Given the description of an element on the screen output the (x, y) to click on. 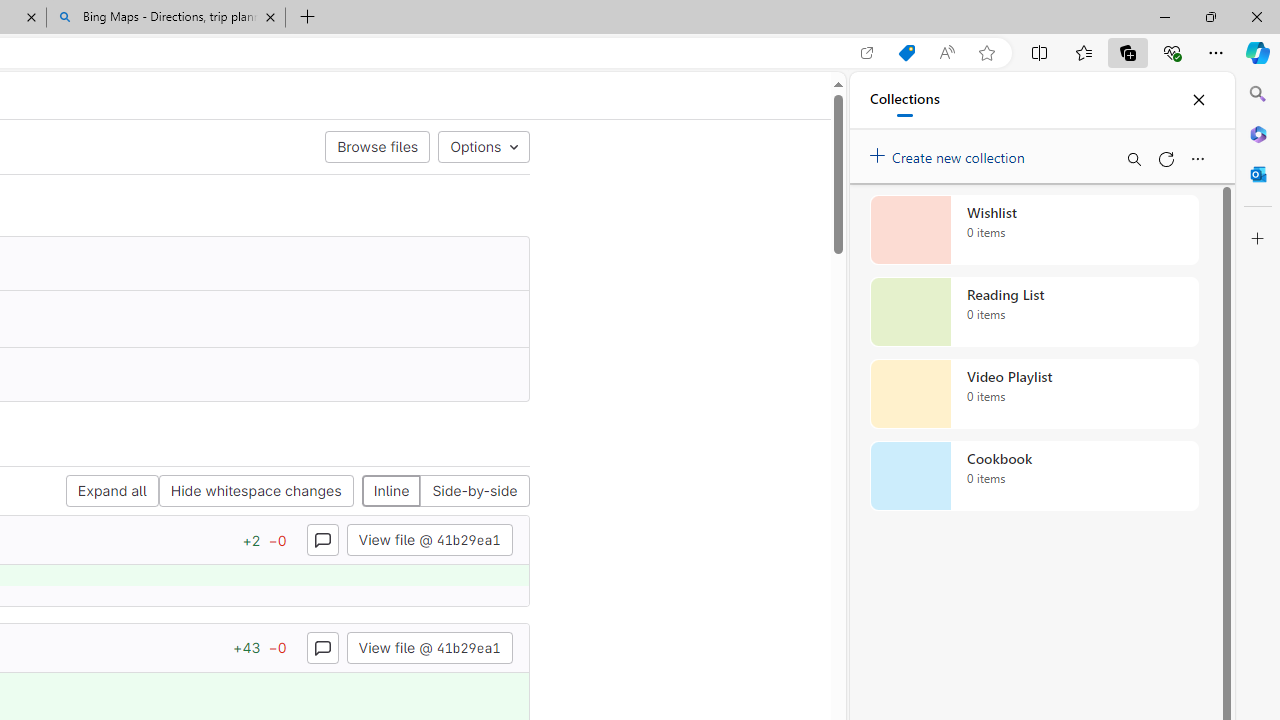
View file @ 41b29ea1 (429, 646)
Toggle comments for this file (322, 646)
Inline (391, 491)
Cookbook collection, 0 items (1034, 475)
Video Playlist collection, 0 items (1034, 394)
Create new collection (950, 153)
Wishlist collection, 0 items (1034, 229)
